Given the description of an element on the screen output the (x, y) to click on. 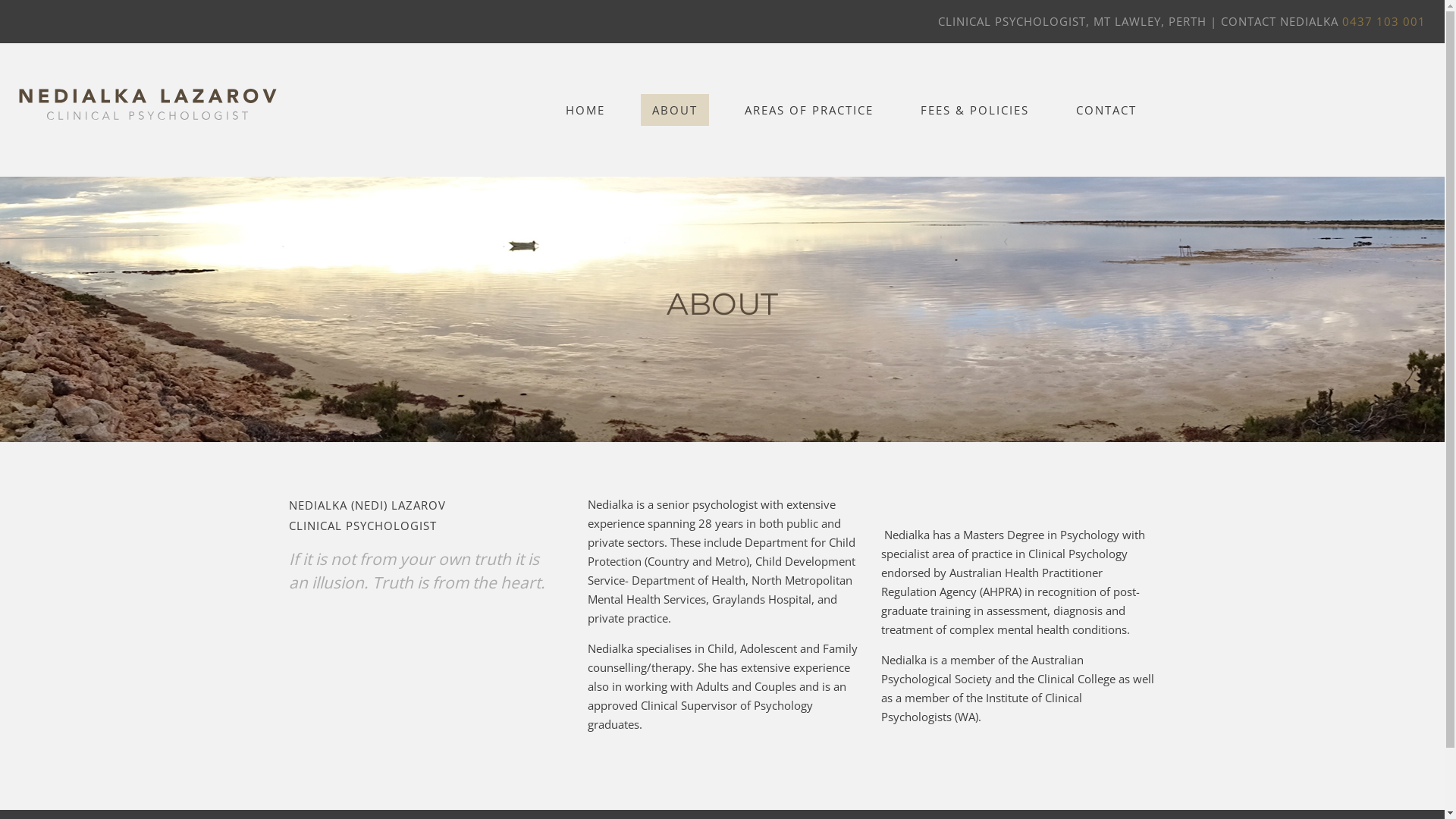
ABOUT Element type: text (674, 109)
0437 103 001 Element type: text (1383, 20)
AREAS OF PRACTICE Element type: text (808, 109)
FEES & POLICIES Element type: text (974, 109)
HOME Element type: text (585, 109)
CONTACT Element type: text (1106, 109)
